Given the description of an element on the screen output the (x, y) to click on. 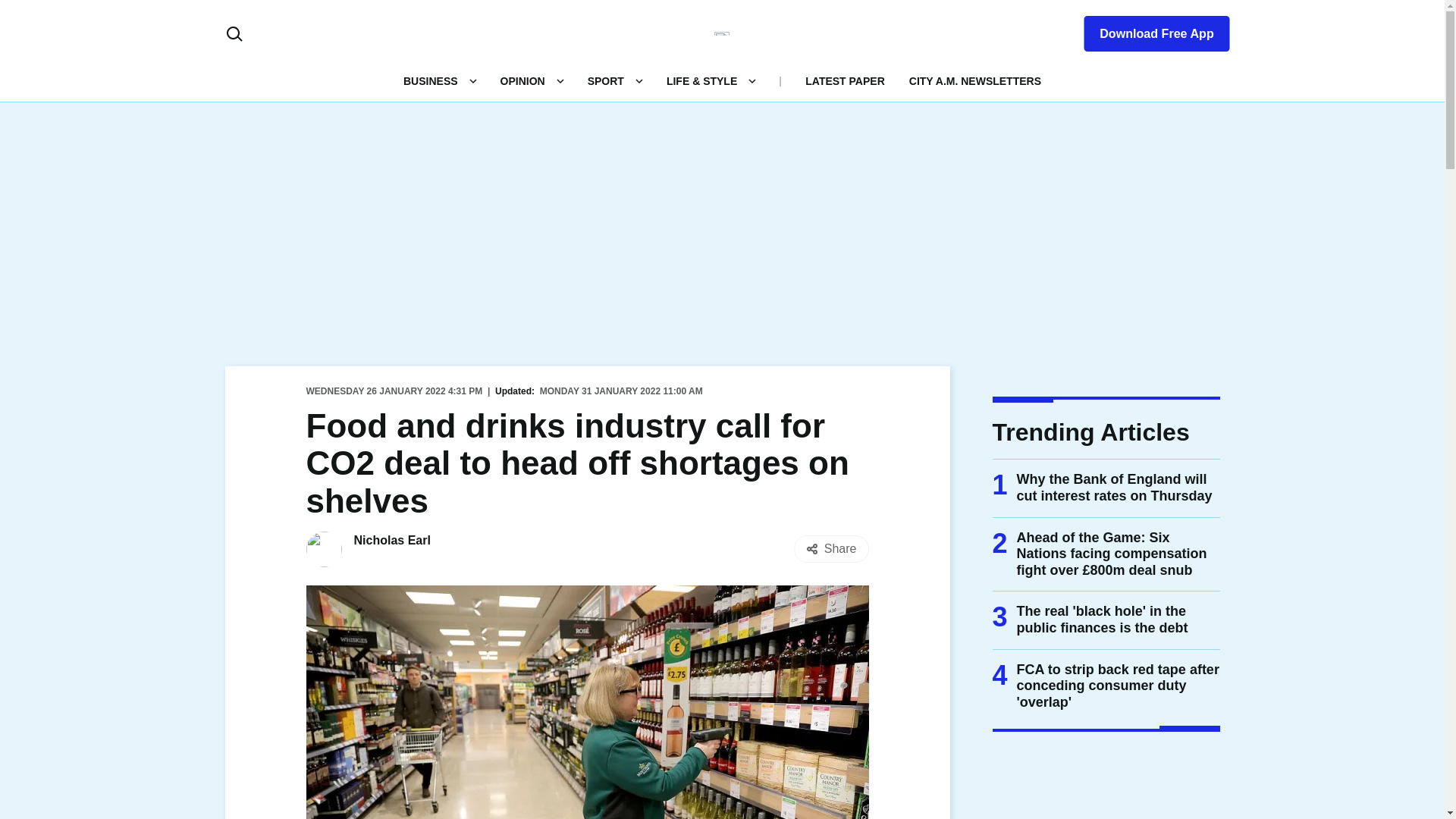
CityAM (721, 33)
SPORT (606, 80)
BUSINESS (430, 80)
Download Free App (1146, 30)
OPINION (522, 80)
